Given the description of an element on the screen output the (x, y) to click on. 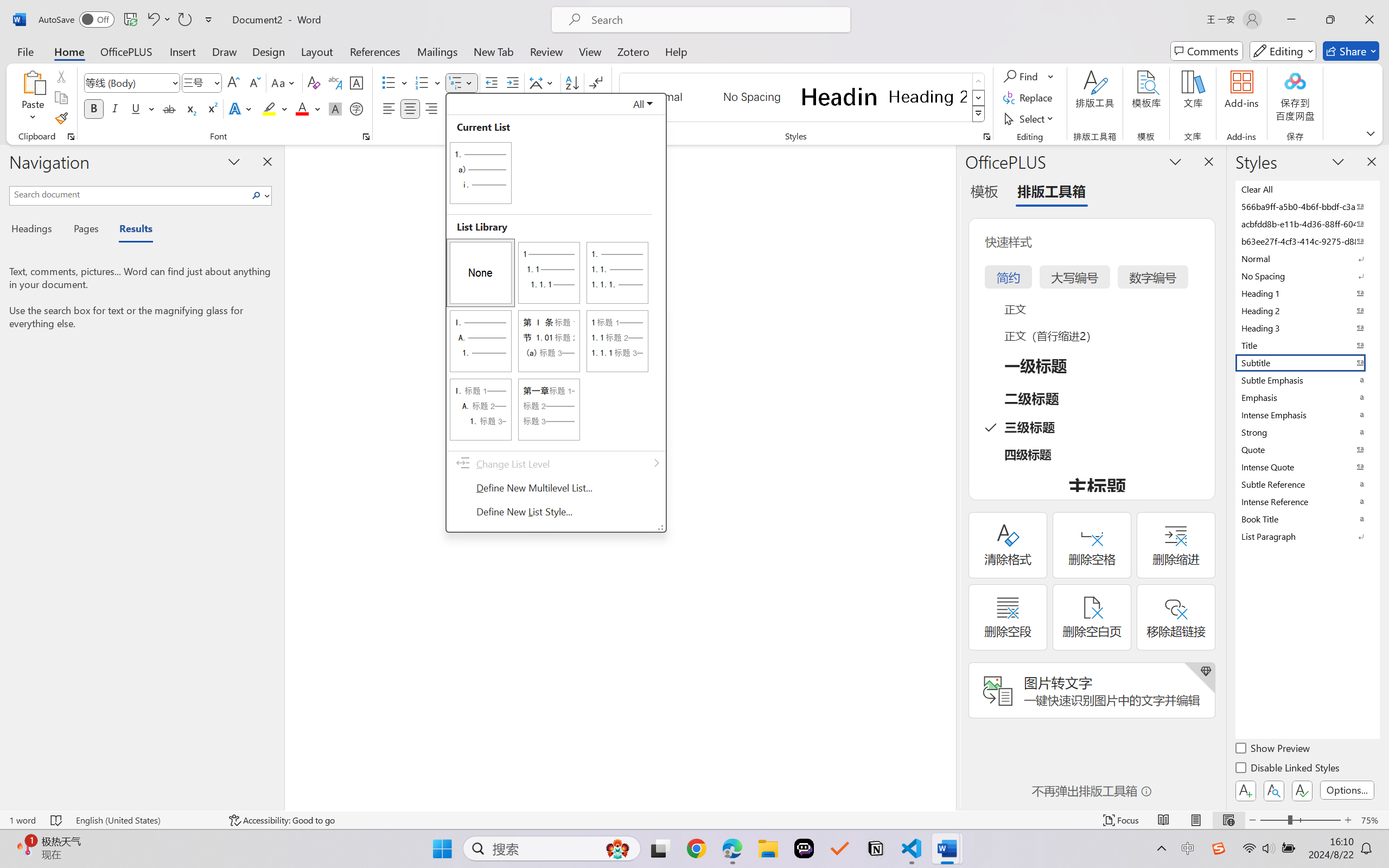
Open (215, 82)
Heading 1 (839, 96)
Show/Hide Editing Marks (595, 82)
Select (1030, 118)
Intense Reference (1306, 501)
Insert (182, 51)
Styles (978, 113)
Class: NetUIButton (1301, 790)
Text Highlight Color Yellow (269, 108)
